Given the description of an element on the screen output the (x, y) to click on. 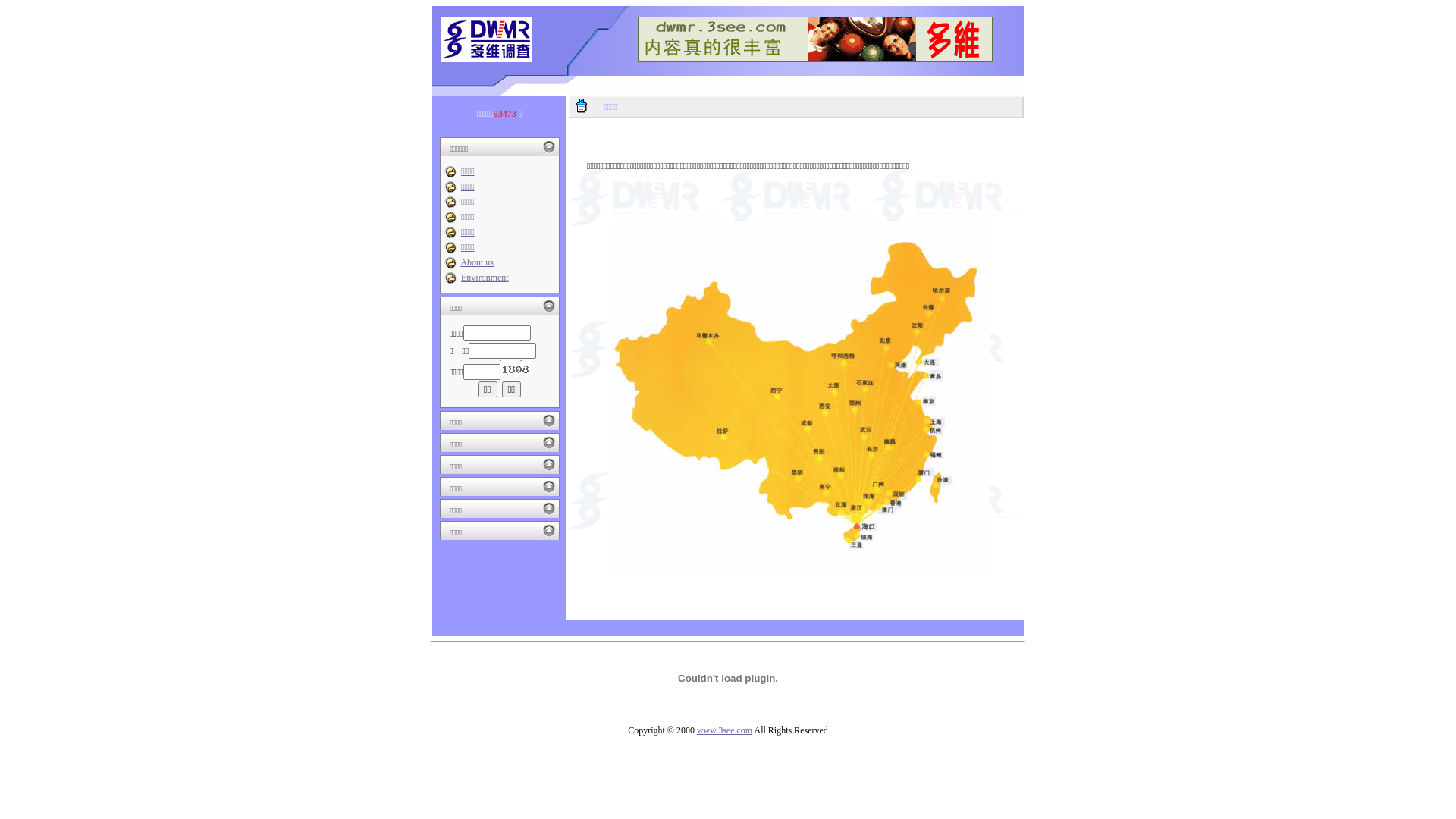
About us Element type: text (476, 262)
Environment Element type: text (484, 277)
www.3see.com Element type: text (724, 729)
